Given the description of an element on the screen output the (x, y) to click on. 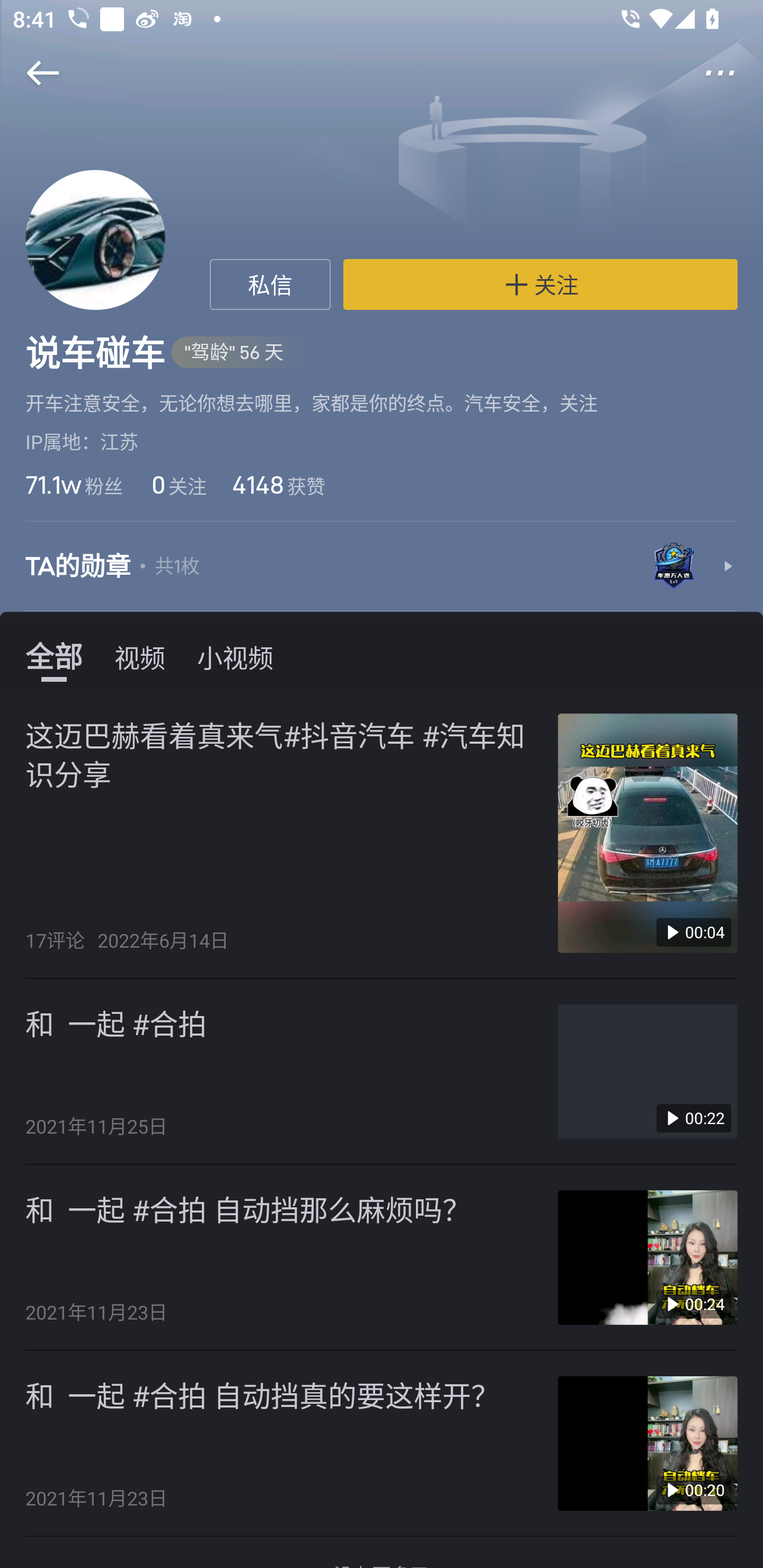
 (30, 72)
 (732, 72)
私信 (269, 284)
 关注 (540, 284)
"驾龄" 56 天 (243, 352)
71.1w 粉丝 (73, 484)
0 关注 (177, 484)
4148 获赞 (278, 484)
TA的勋章 共1枚  (381, 566)
全部 (53, 656)
视频 (139, 656)
小视频 (234, 656)
这迈巴赫看着真来气#抖音汽车 #汽车知识分享 17评论 2022年6月14日  00:04 (381, 833)
这迈巴赫看着真来气#抖音汽车 #汽车知识分享 (281, 753)
和  一起 #合拍 2021年11月25日  00:22 (381, 1071)
和  一起 #合拍 自动挡那么麻烦吗？ 2021年11月23日  00:24 (381, 1257)
和  一起 #合拍 自动挡真的要这样开？ 2021年11月23日  00:20 (381, 1443)
